Given the description of an element on the screen output the (x, y) to click on. 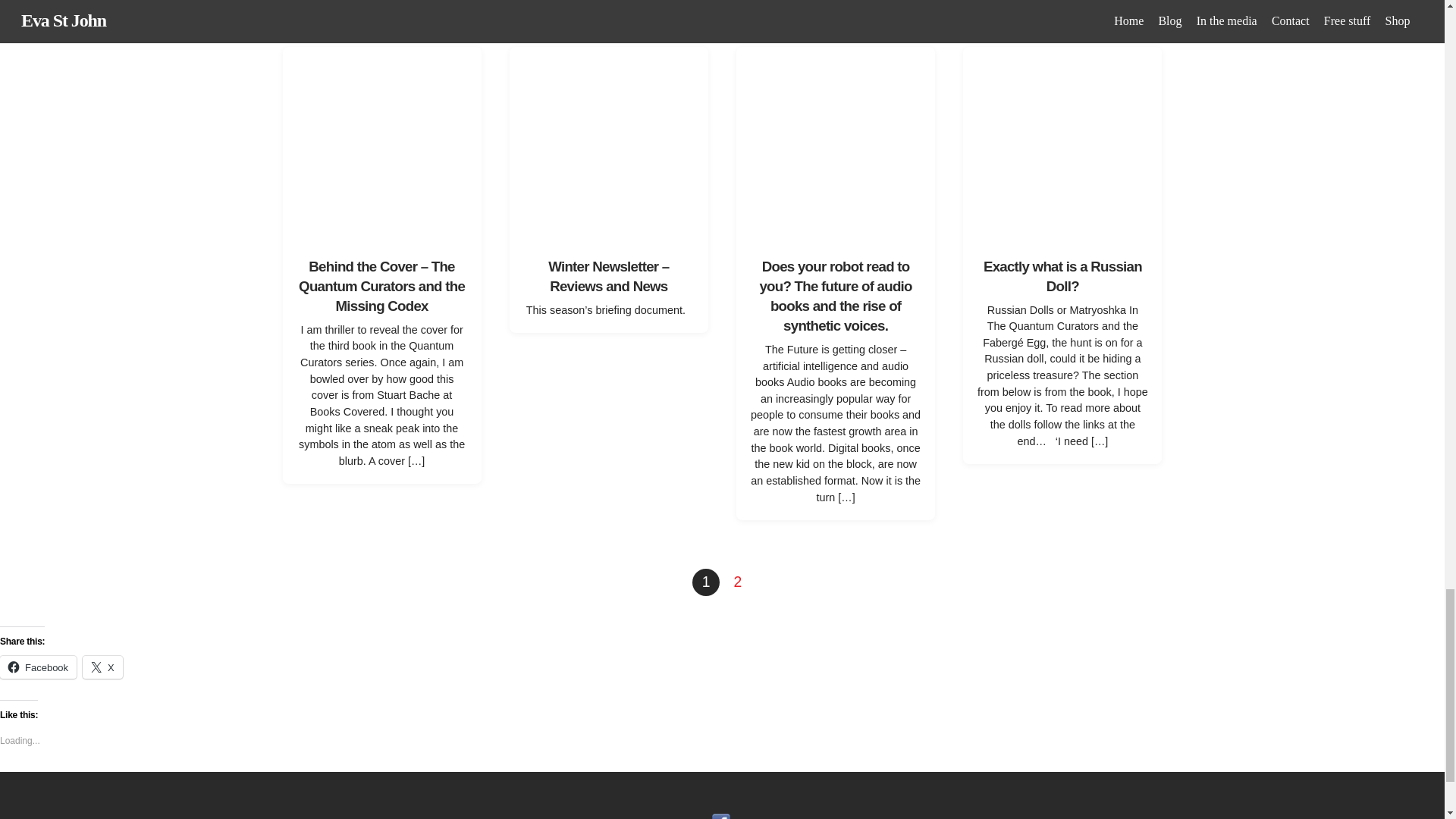
Facebook (38, 667)
X (102, 667)
Exactly what is a Russian Doll? (1062, 276)
2 (737, 582)
